Given the description of an element on the screen output the (x, y) to click on. 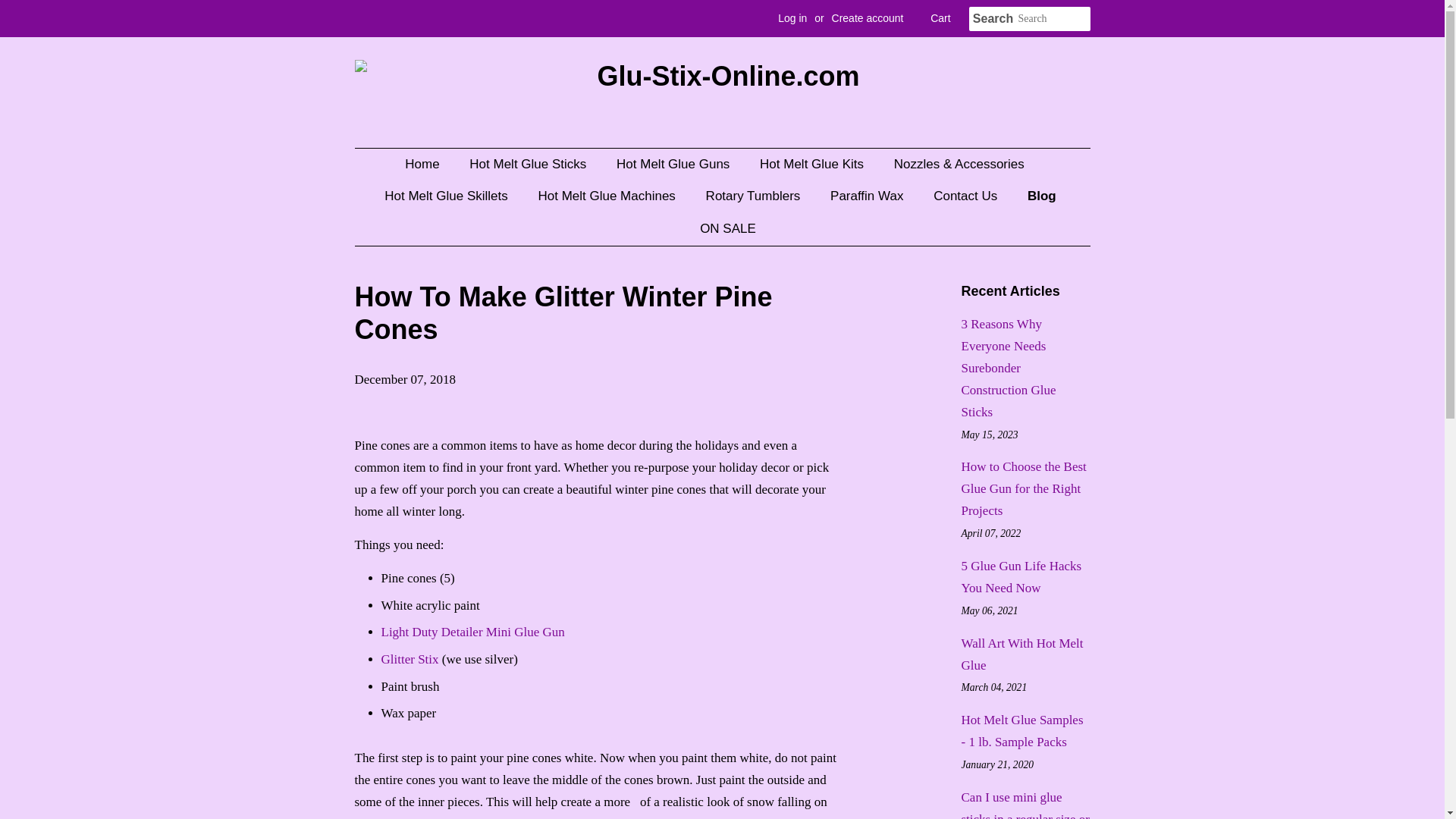
Glitter Stix (409, 658)
Search (993, 18)
Hot Melt Glue Kits (813, 164)
Blog (1043, 196)
Cart (940, 18)
Home (429, 164)
Hot Melt Glue Machines (607, 196)
Contact Us (966, 196)
Light Duty Detailer Mini Glue Gun (472, 631)
glitter stix (409, 658)
Log in (791, 18)
Hot Melt Glue Guns (674, 164)
Rotary Tumblers (754, 196)
Hot Melt Glue Skillets (447, 196)
ON SALE (721, 228)
